Given the description of an element on the screen output the (x, y) to click on. 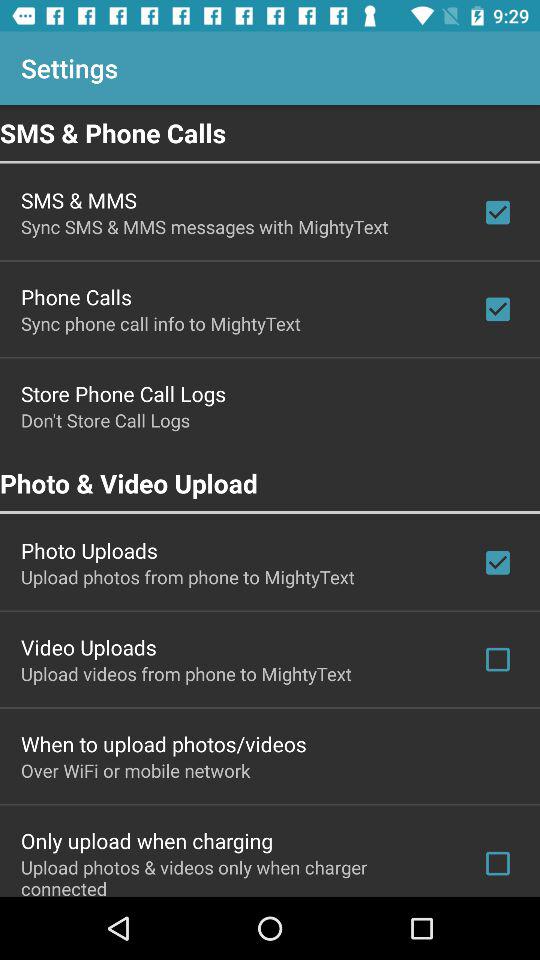
tap icon above photo & video upload (105, 420)
